Given the description of an element on the screen output the (x, y) to click on. 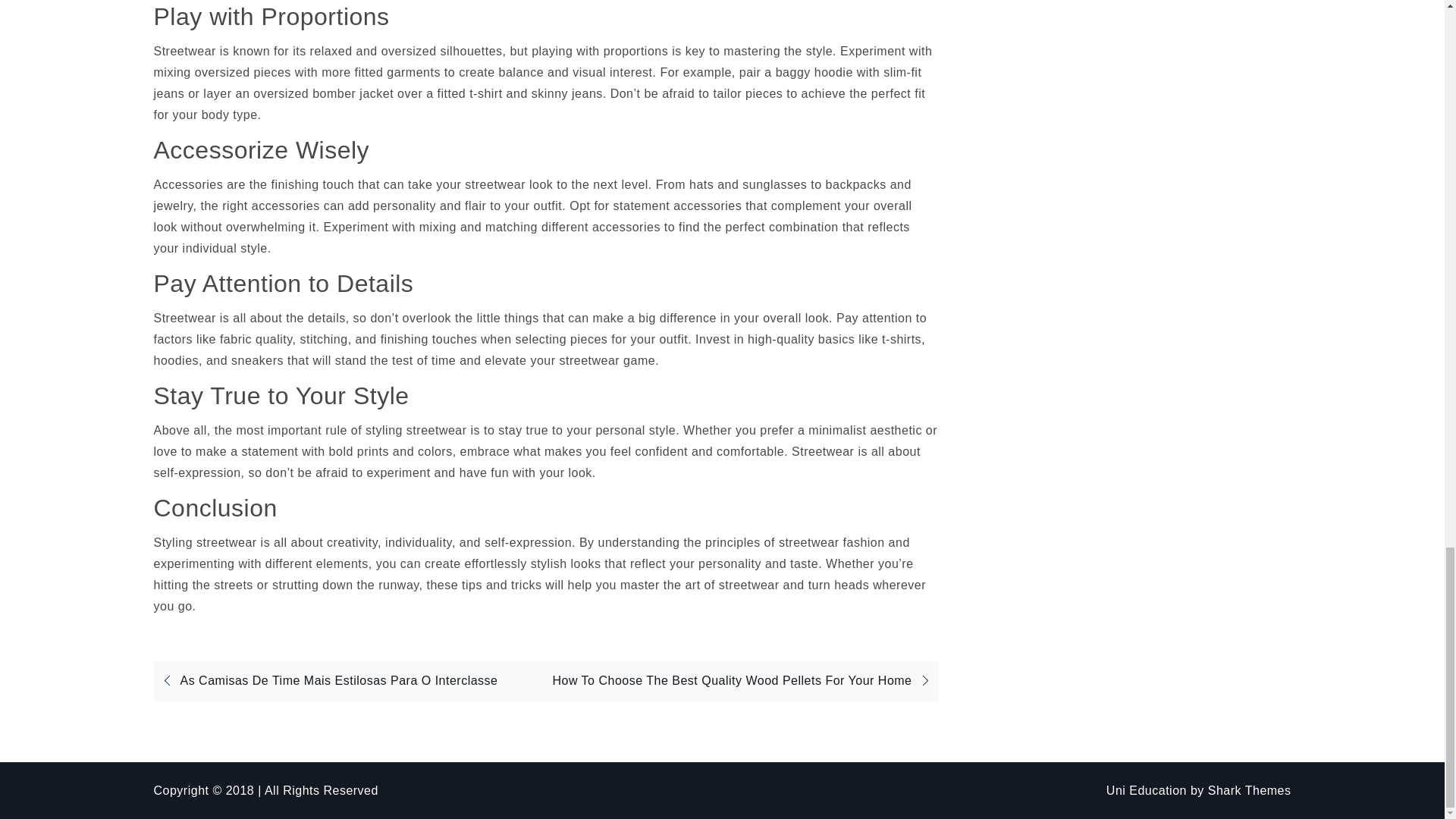
As Camisas De Time Mais Estilosas Para O Interclasse (324, 680)
How To Choose The Best Quality Wood Pellets For Your Home (744, 680)
Shark Themes (1249, 789)
